Given the description of an element on the screen output the (x, y) to click on. 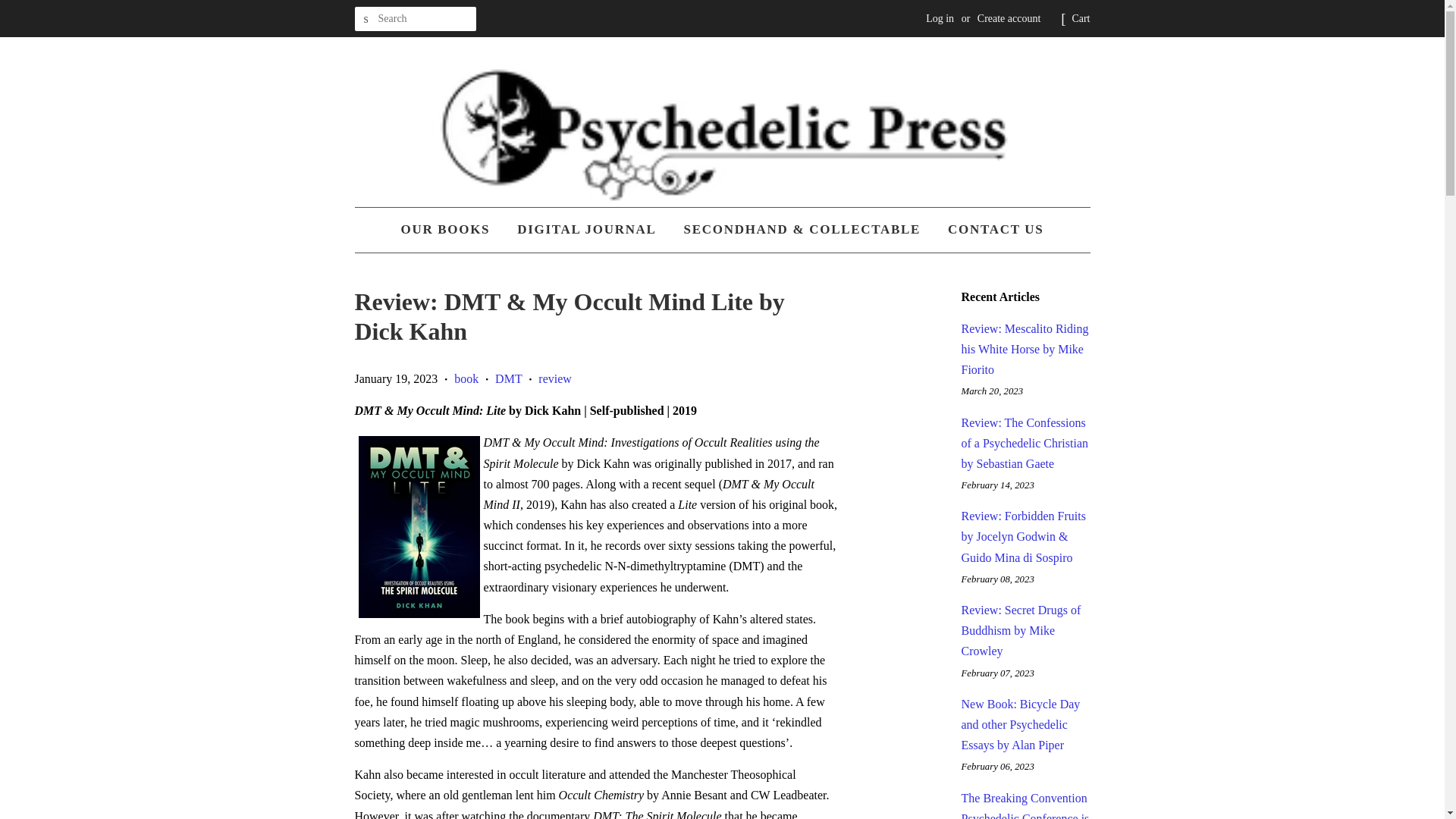
Review: Mescalito Riding his White Horse by Mike Fiorito (1024, 348)
DIGITAL JOURNAL (585, 230)
book (466, 378)
DMT (508, 378)
CONTACT US (989, 230)
OUR BOOKS (450, 230)
SEARCH (366, 18)
Create account (1008, 18)
